Given the description of an element on the screen output the (x, y) to click on. 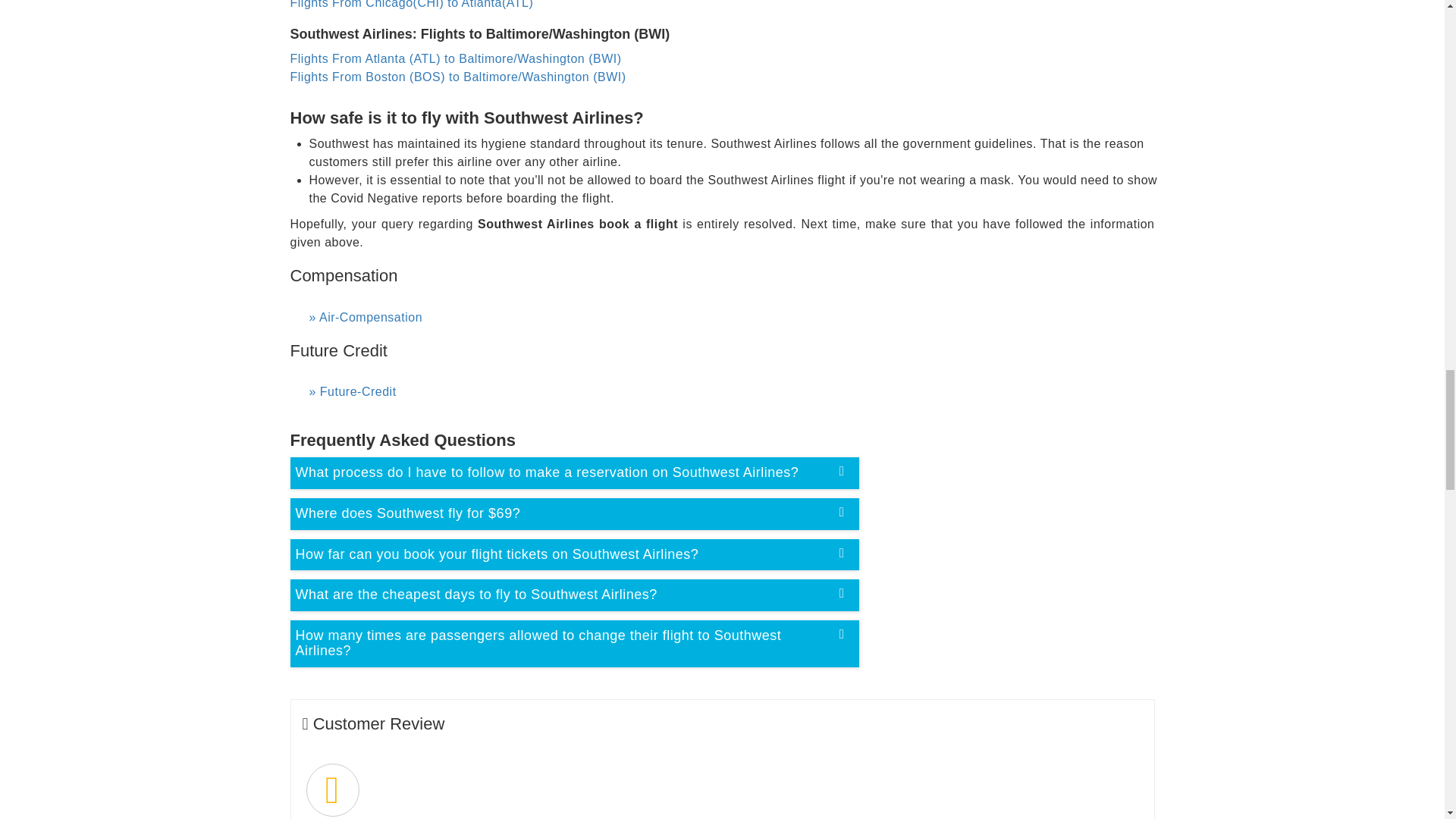
Southwest Flights From Atlanta To Baltimore Washington (455, 58)
Southwest Flights From Boston to Baltimore (457, 76)
Future-Credit (726, 392)
Southwest Flights From Chicago to Atlanta (410, 4)
Air-Compensation (726, 317)
